Given the description of an element on the screen output the (x, y) to click on. 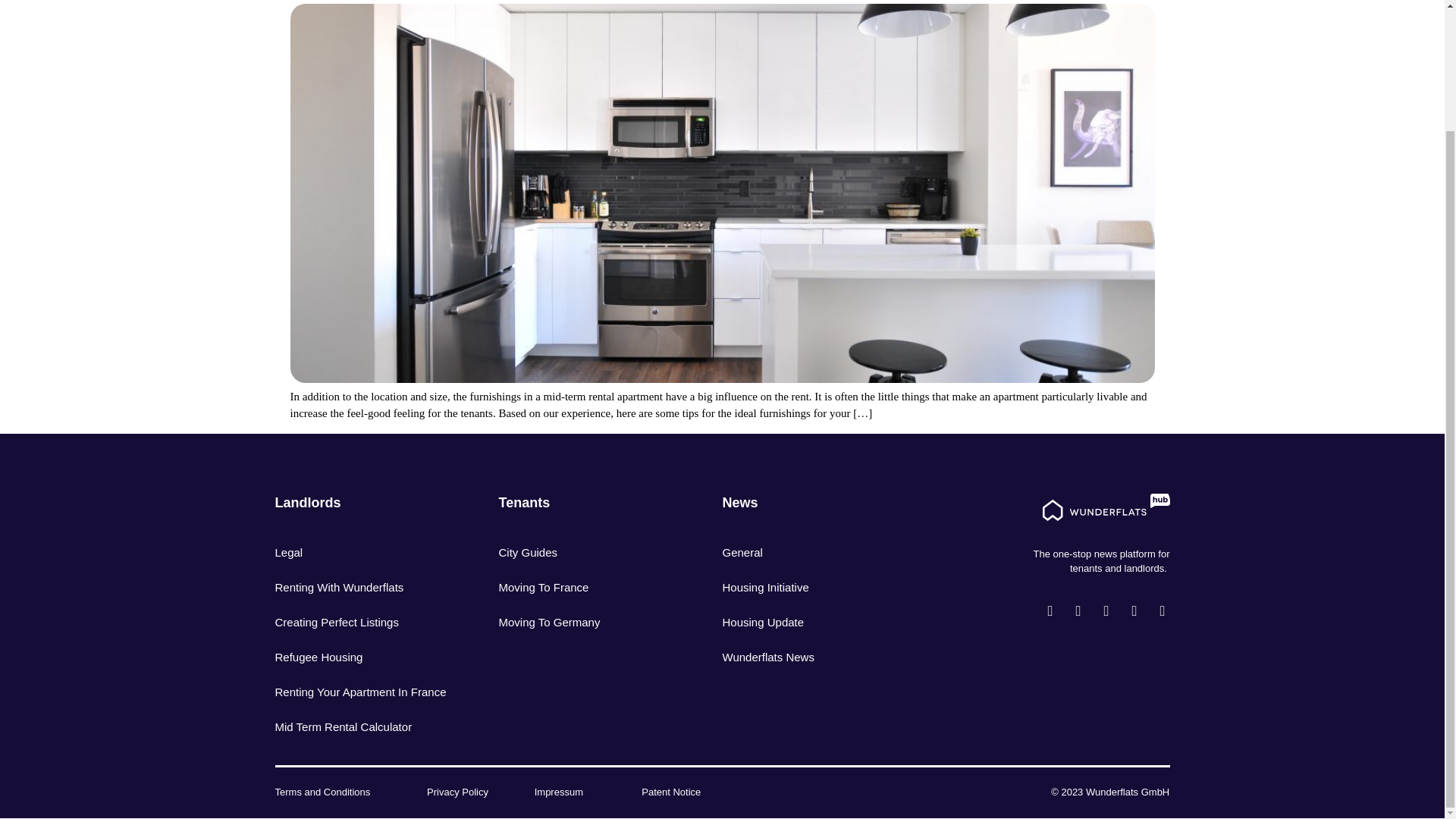
Refugee Housing (363, 656)
Housing Initiative (811, 586)
Moving To France (588, 586)
Housing Update (811, 621)
City Guides (588, 551)
Renting With Wunderflats (363, 586)
Moving To Germany (588, 621)
Mid Term Rental Calculator (363, 726)
Creating Perfect Listings (363, 621)
Renting Your Apartment In France (363, 691)
Wunderflats News (811, 656)
Legal (363, 551)
General (811, 551)
